Given the description of an element on the screen output the (x, y) to click on. 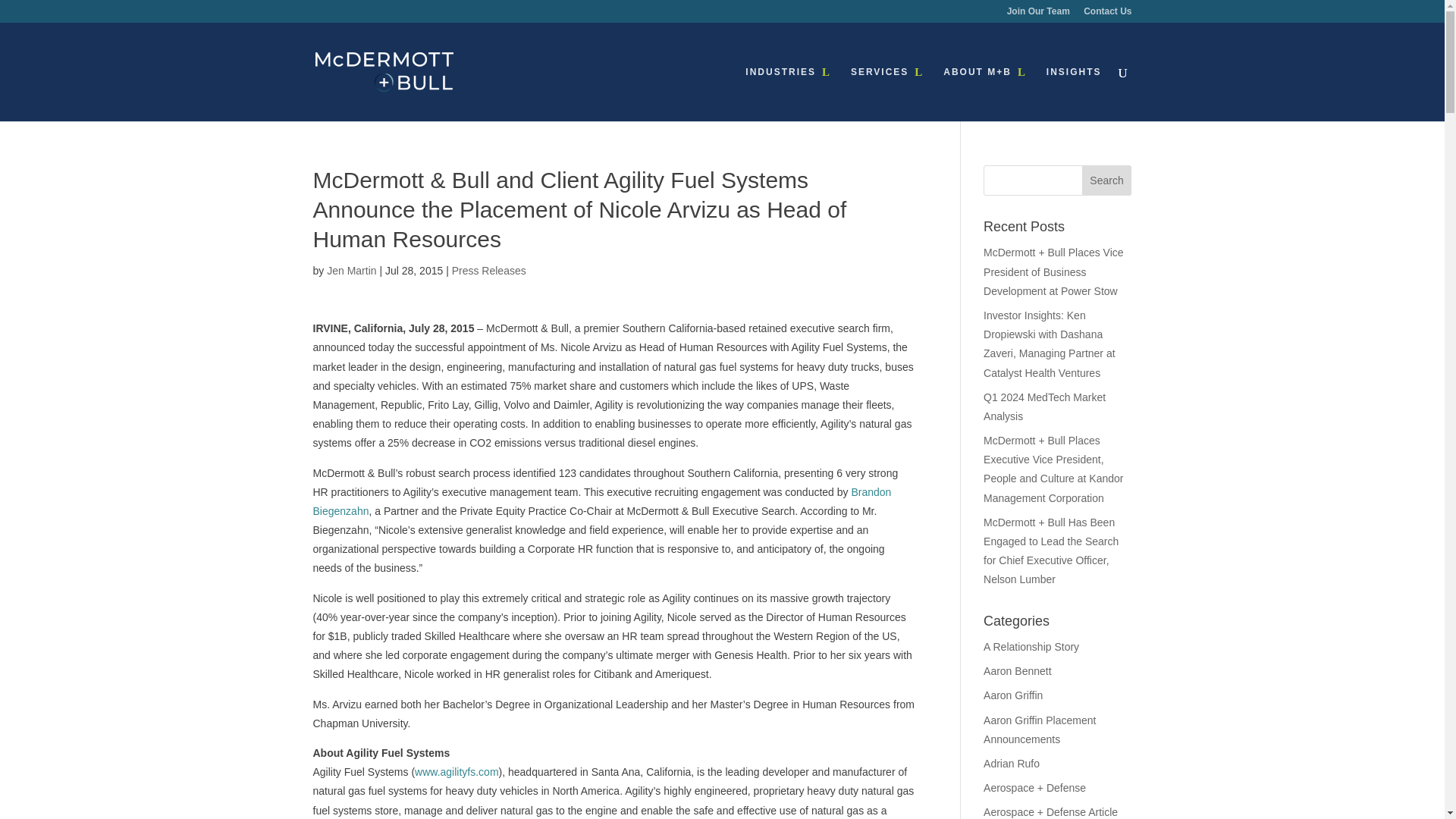
Search (1106, 180)
INDUSTRIES (788, 93)
SERVICES (886, 93)
Posts by Jen Martin (350, 270)
Join Our Team (1038, 14)
INSIGHTS (1074, 93)
Contact Us (1107, 14)
